Given the description of an element on the screen output the (x, y) to click on. 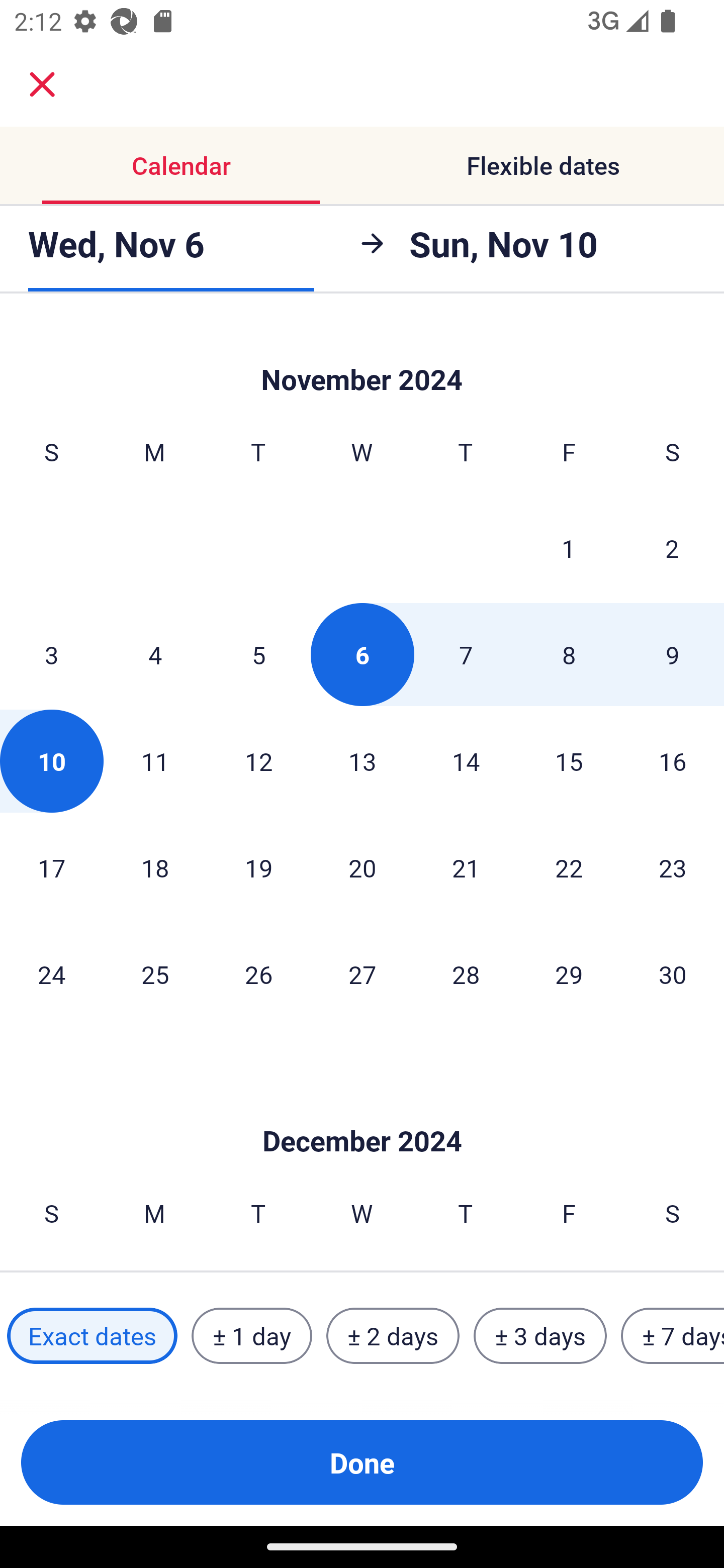
close. (42, 84)
Flexible dates (542, 164)
Skip to Done (362, 356)
1 Friday, November 1, 2024 (568, 547)
2 Saturday, November 2, 2024 (672, 547)
3 Sunday, November 3, 2024 (51, 654)
4 Monday, November 4, 2024 (155, 654)
5 Tuesday, November 5, 2024 (258, 654)
11 Monday, November 11, 2024 (155, 761)
12 Tuesday, November 12, 2024 (258, 761)
13 Wednesday, November 13, 2024 (362, 761)
14 Thursday, November 14, 2024 (465, 761)
15 Friday, November 15, 2024 (569, 761)
16 Saturday, November 16, 2024 (672, 761)
17 Sunday, November 17, 2024 (51, 867)
18 Monday, November 18, 2024 (155, 867)
19 Tuesday, November 19, 2024 (258, 867)
20 Wednesday, November 20, 2024 (362, 867)
21 Thursday, November 21, 2024 (465, 867)
22 Friday, November 22, 2024 (569, 867)
23 Saturday, November 23, 2024 (672, 867)
24 Sunday, November 24, 2024 (51, 973)
25 Monday, November 25, 2024 (155, 973)
26 Tuesday, November 26, 2024 (258, 973)
27 Wednesday, November 27, 2024 (362, 973)
28 Thursday, November 28, 2024 (465, 973)
29 Friday, November 29, 2024 (569, 973)
30 Saturday, November 30, 2024 (672, 973)
Skip to Done (362, 1111)
Exact dates (92, 1335)
± 1 day (251, 1335)
± 2 days (392, 1335)
± 3 days (539, 1335)
± 7 days (672, 1335)
Done (361, 1462)
